Given the description of an element on the screen output the (x, y) to click on. 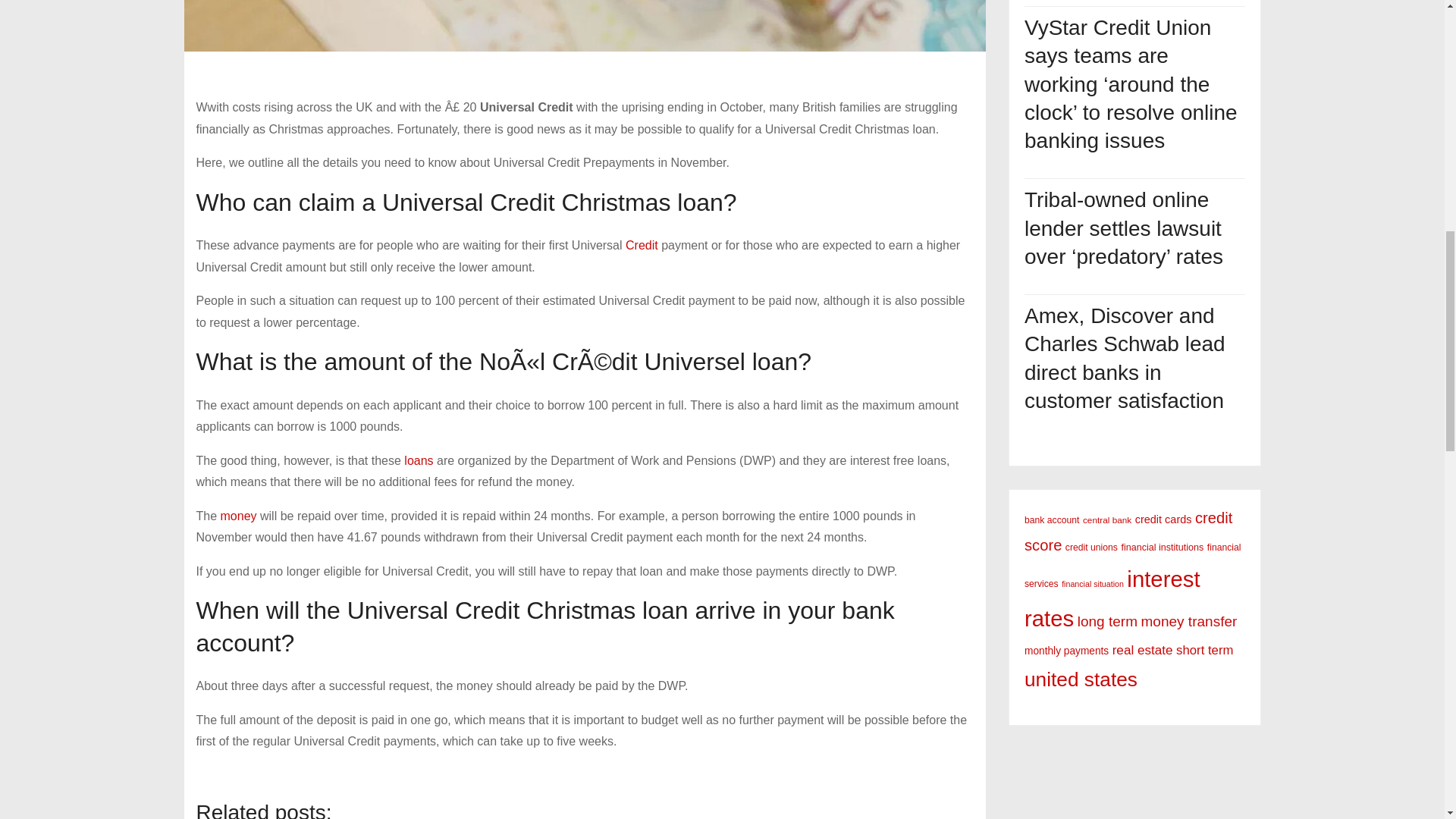
loans (418, 460)
Credit (642, 245)
Credit (642, 245)
money (239, 515)
loans (418, 460)
money (239, 515)
